Given the description of an element on the screen output the (x, y) to click on. 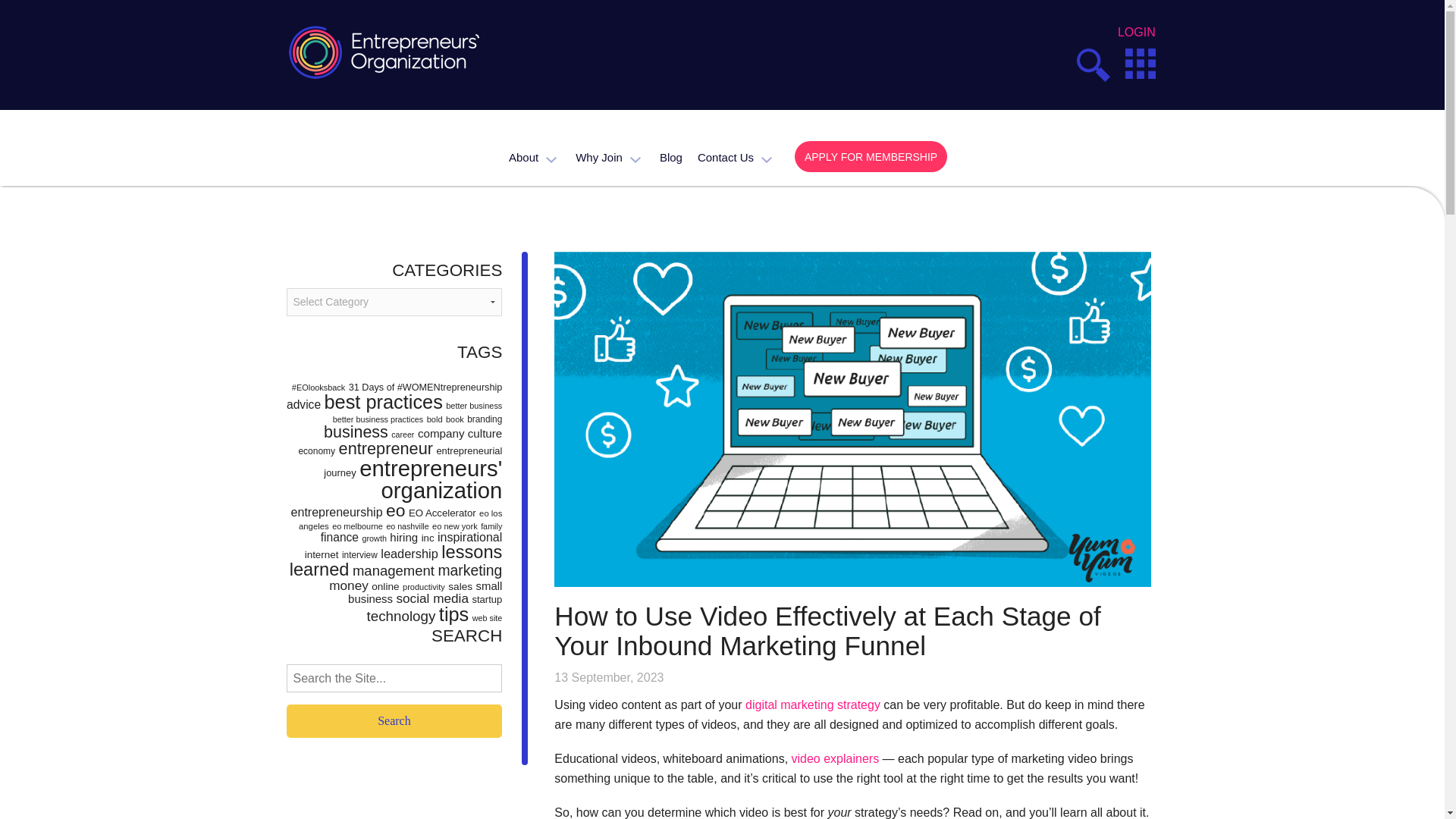
Search (394, 720)
Contact Us (731, 156)
LOGIN (1137, 31)
Why Join (605, 156)
About (530, 156)
Search (1394, 65)
Blog (666, 156)
